Given the description of an element on the screen output the (x, y) to click on. 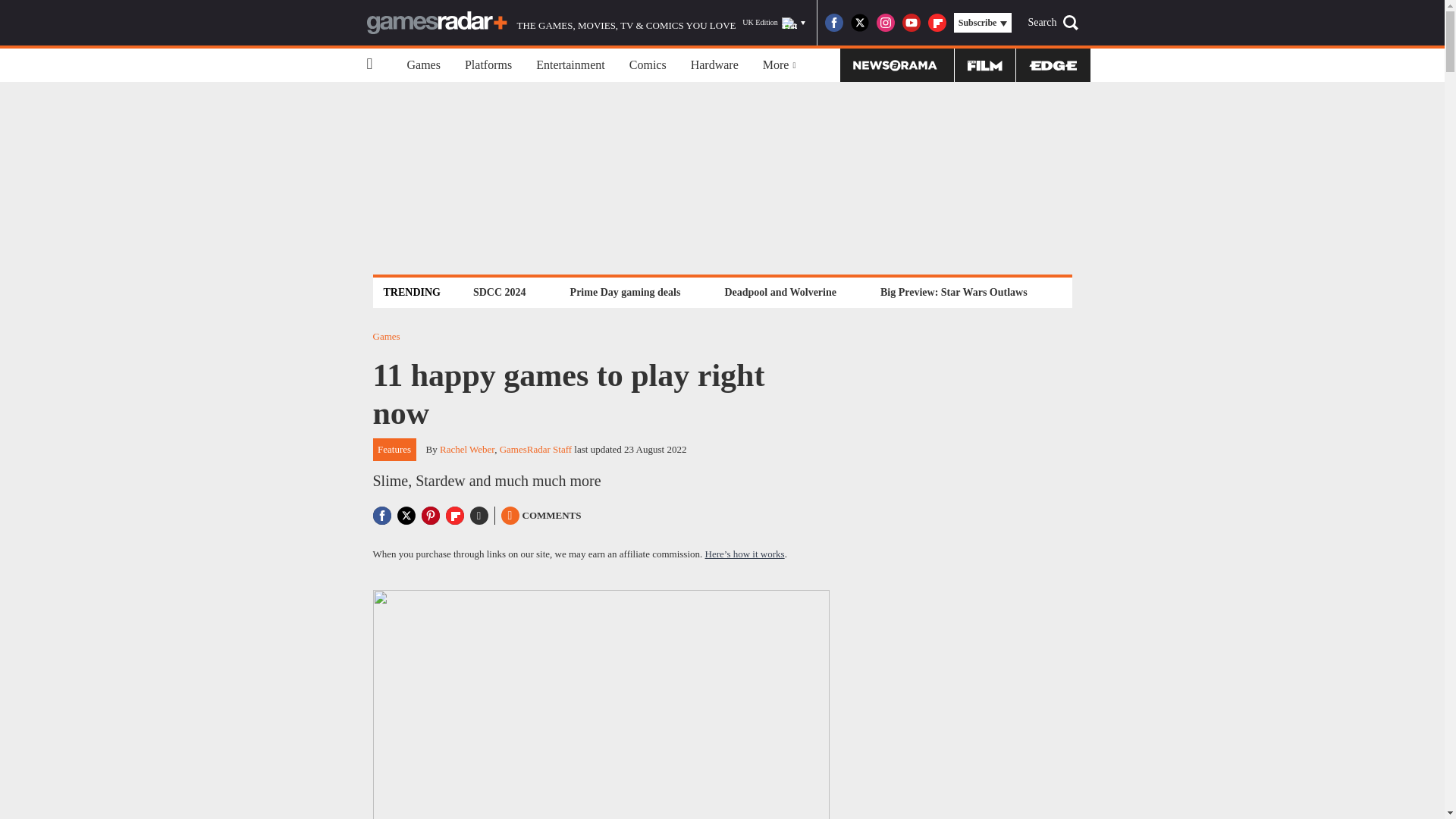
Big Preview: Star Wars Outlaws (953, 292)
Comics (647, 64)
Deadpool and Wolverine (780, 292)
Entertainment (570, 64)
SDCC 2024 (499, 292)
Hardware (714, 64)
UK Edition (773, 22)
Prime Day gaming deals (624, 292)
Games (422, 64)
Platforms (488, 64)
